Given the description of an element on the screen output the (x, y) to click on. 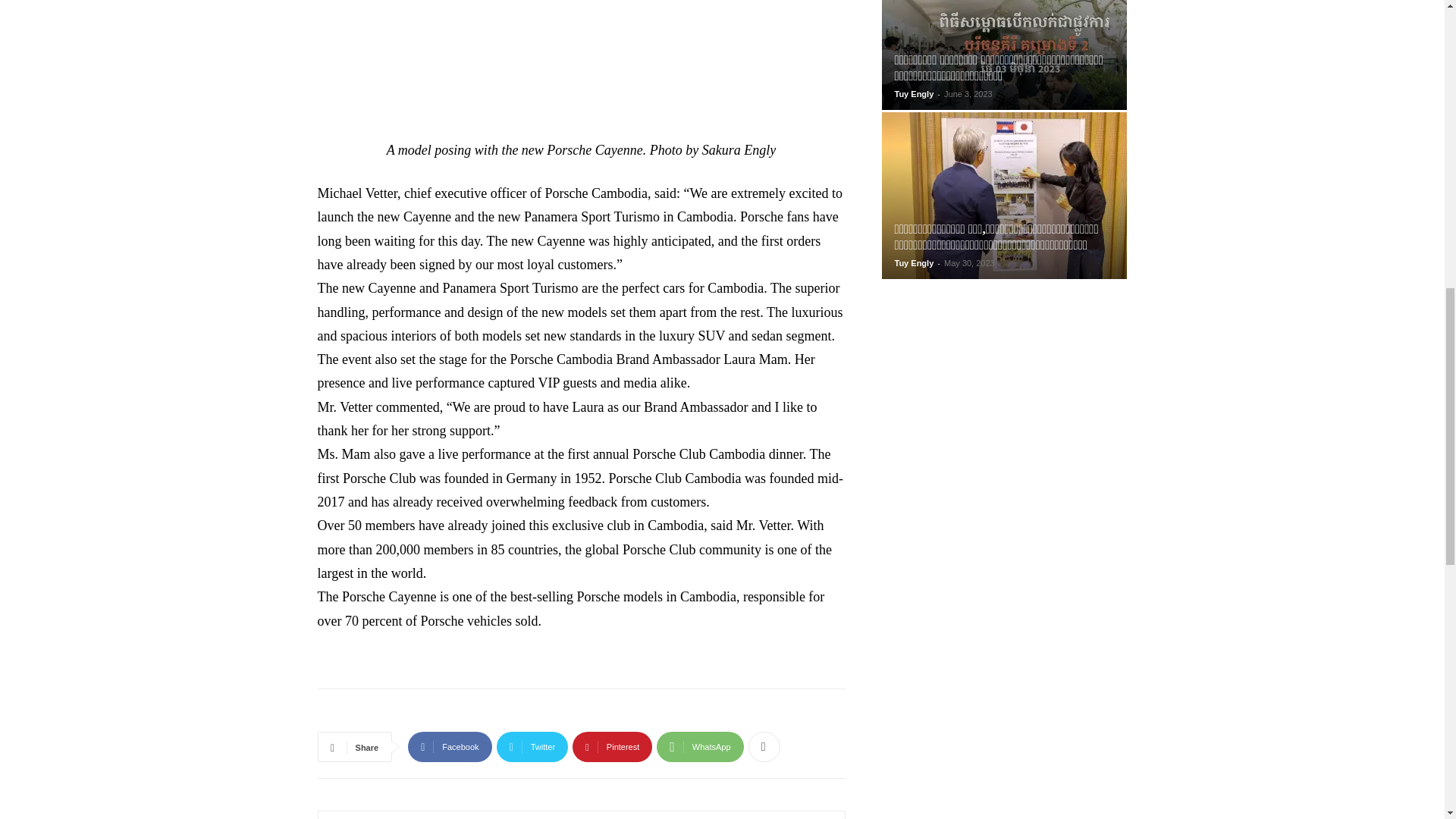
Pinterest (612, 747)
Twitter (532, 747)
Facebook (449, 747)
